Given the description of an element on the screen output the (x, y) to click on. 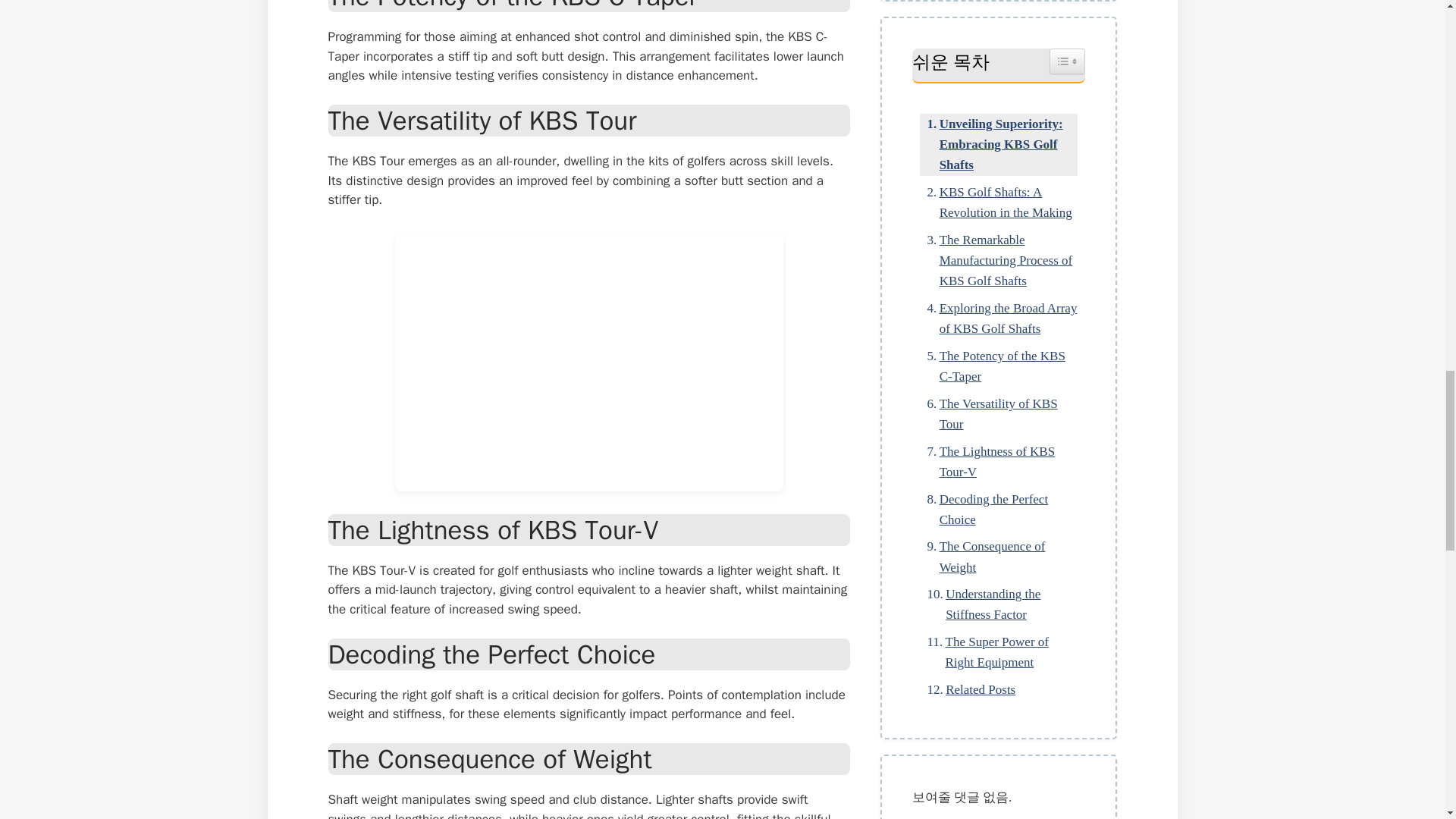
KBS Golf Shafts: A Revolution in the Making (997, 201)
Unveiling Superiority: Embracing KBS Golf Shafts (997, 144)
